Given the description of an element on the screen output the (x, y) to click on. 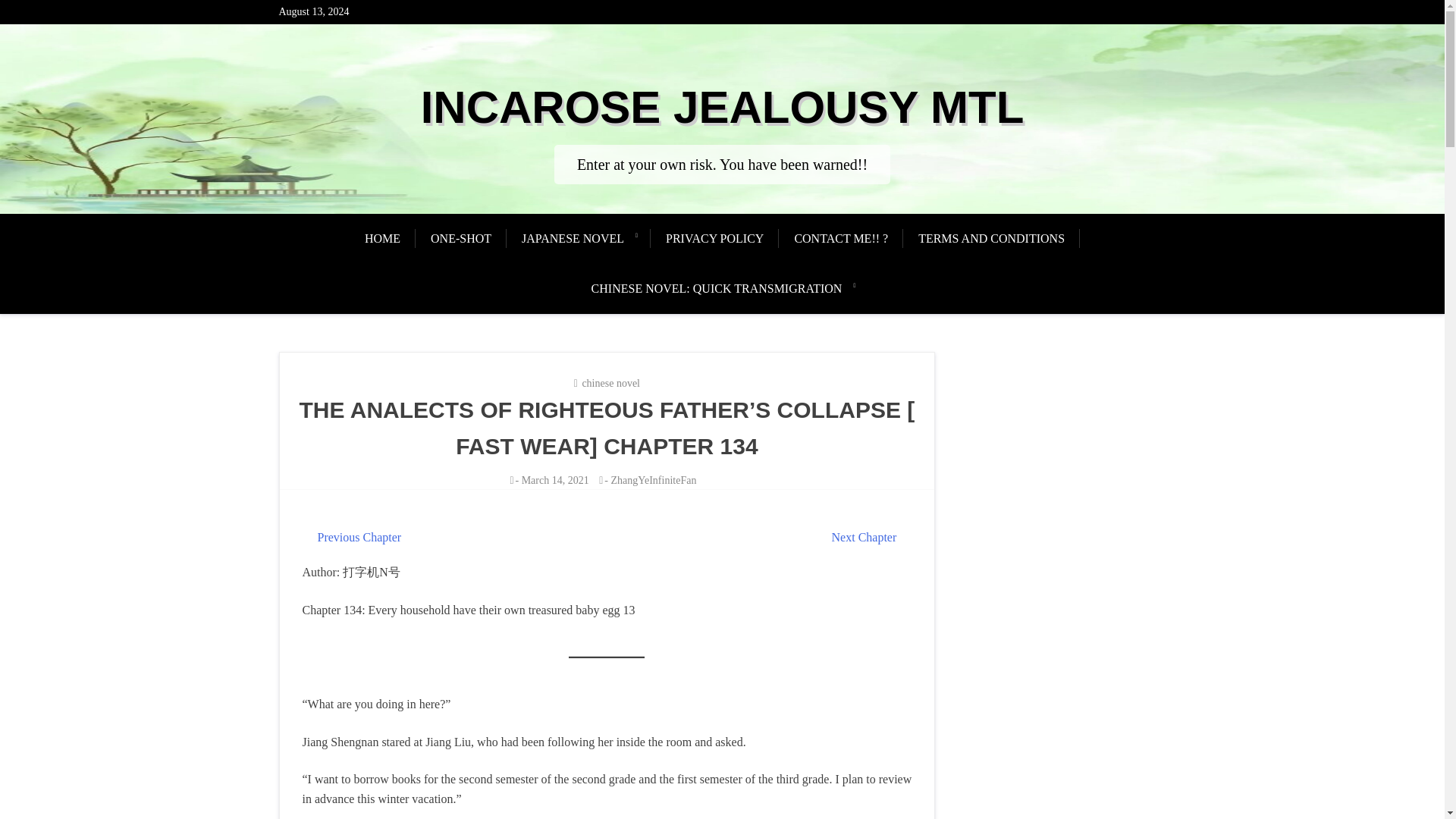
CONTACT ME!! ? (840, 238)
INCAROSE JEALOUSY MTL (722, 106)
ONE-SHOT (460, 238)
Next Chapter (863, 537)
JAPANESE NOVEL (572, 238)
HOME (389, 238)
TERMS AND CONDITIONS (991, 238)
CHINESE NOVEL: QUICK TRANSMIGRATION (716, 288)
chinese novel (610, 383)
Previous Chapter (359, 537)
